Given the description of an element on the screen output the (x, y) to click on. 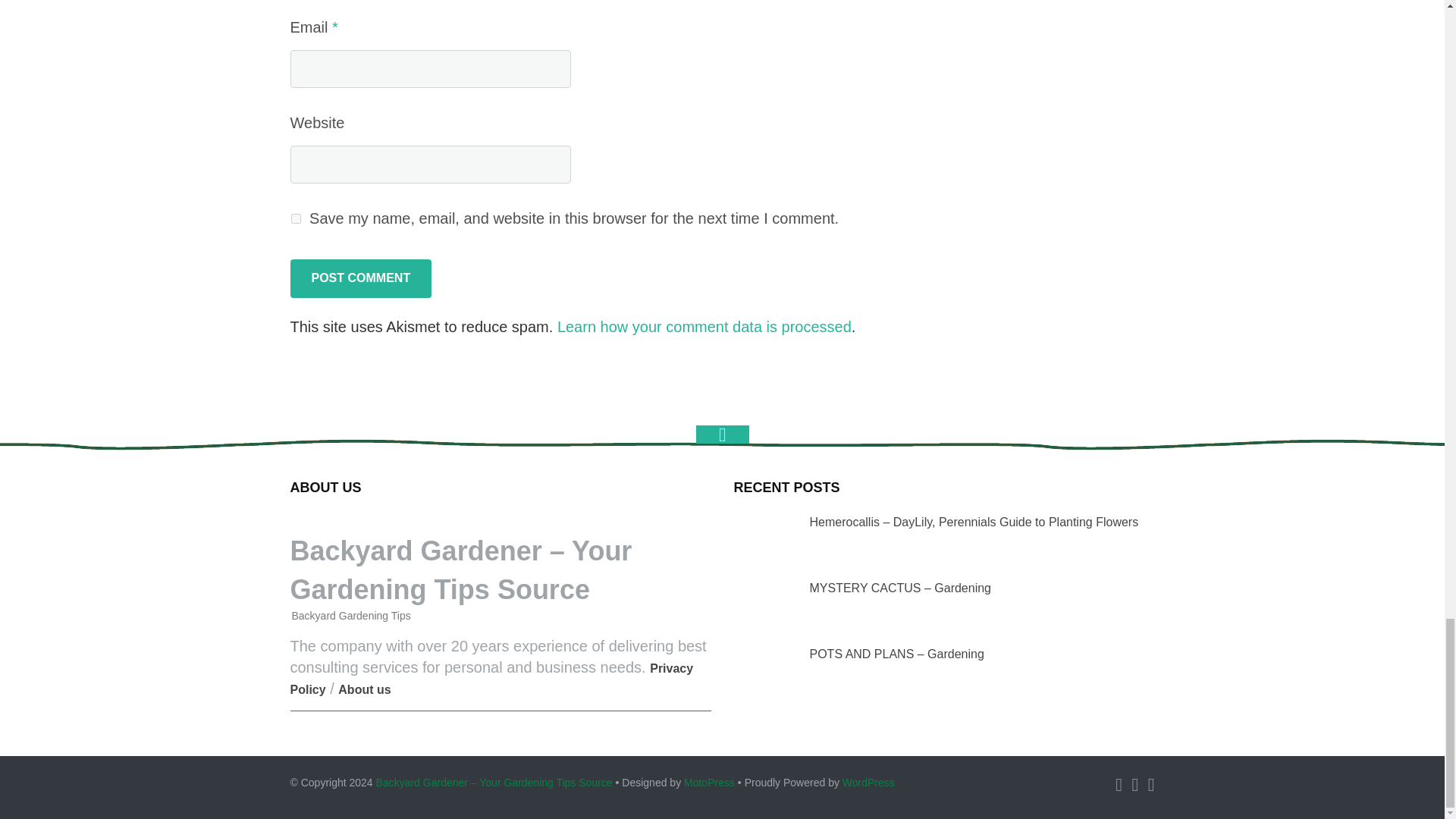
Post Comment (359, 278)
yes (296, 218)
Semantic Personal Publishing Platform (869, 782)
Premium WordPress Plugins and Themes (709, 782)
